Given the description of an element on the screen output the (x, y) to click on. 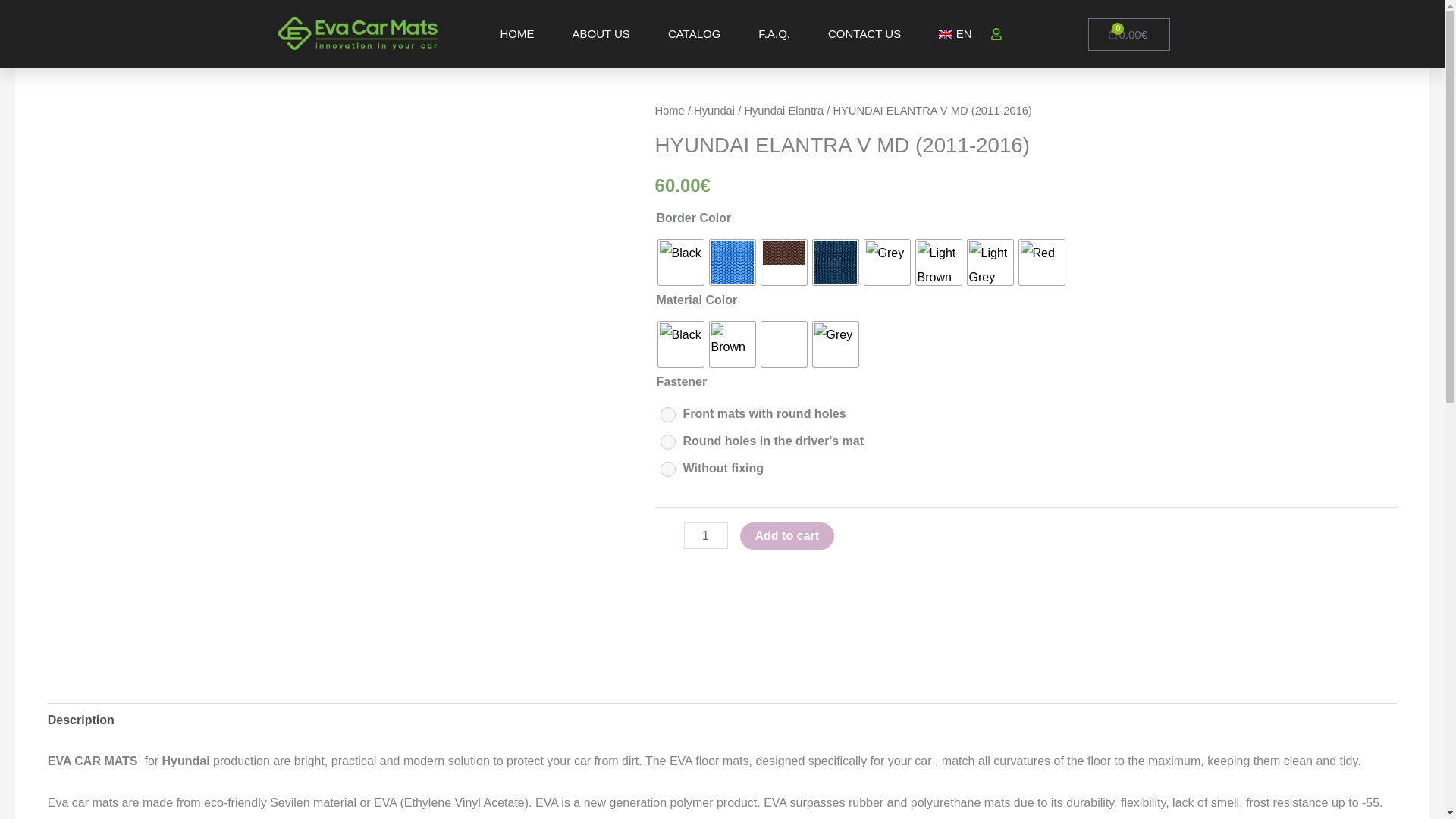
Brown (732, 343)
round-holes-in-the-drivers-mat (668, 441)
Light Grey (990, 262)
Hyundai Elantra (784, 110)
front-floor-mats-round (668, 414)
Black (680, 262)
1 (706, 535)
Cream (783, 343)
Round holes in the driver's mat (766, 441)
Front mats with round holes (757, 413)
CONTACT US (864, 33)
without-fixing (668, 468)
Red (1041, 262)
Add to cart (786, 535)
Hyundai (714, 110)
